Given the description of an element on the screen output the (x, y) to click on. 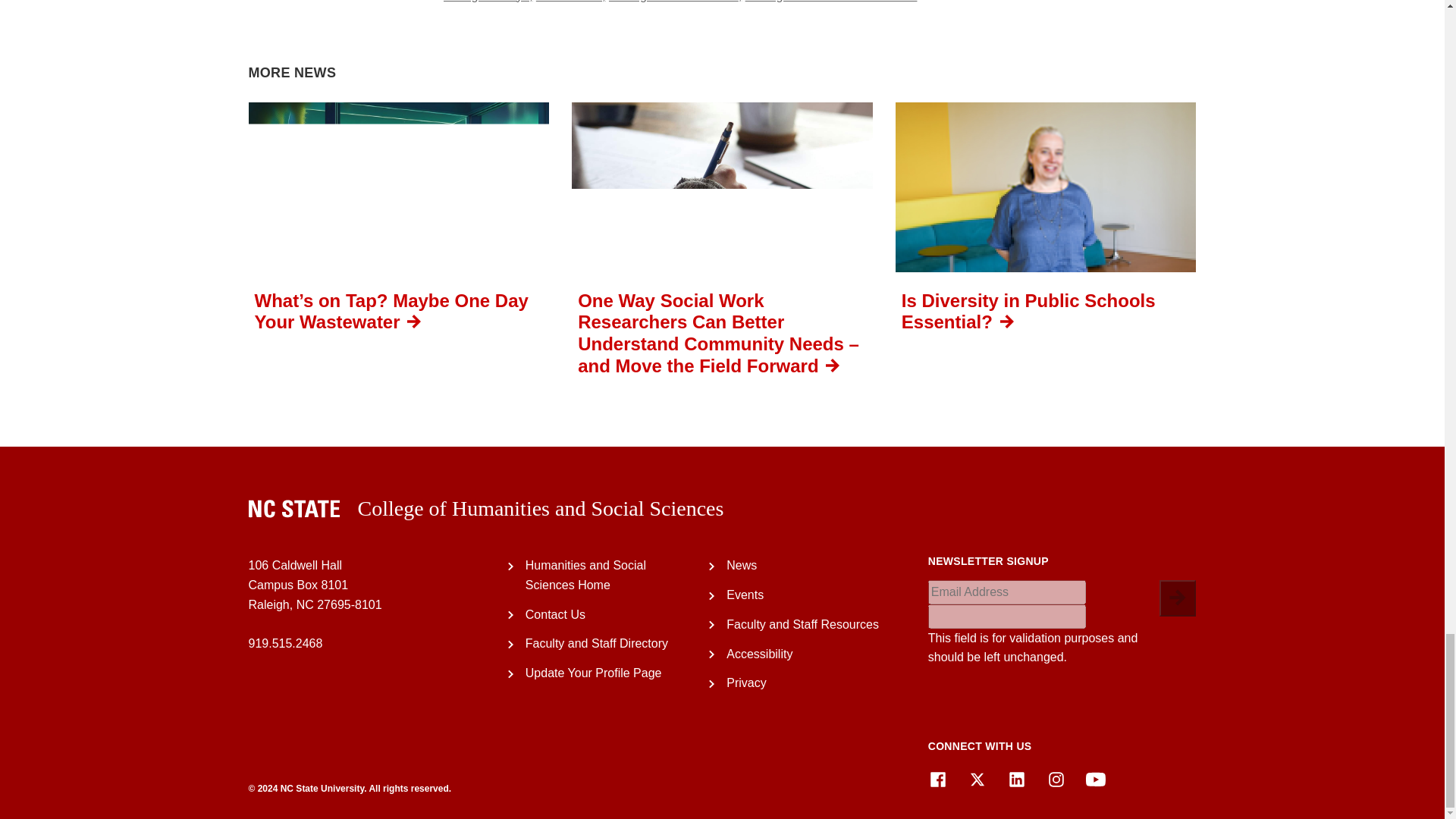
LinkedIn (1016, 779)
Instagram (1055, 779)
X (977, 779)
Facebook (937, 779)
YouTube (1095, 779)
